Given the description of an element on the screen output the (x, y) to click on. 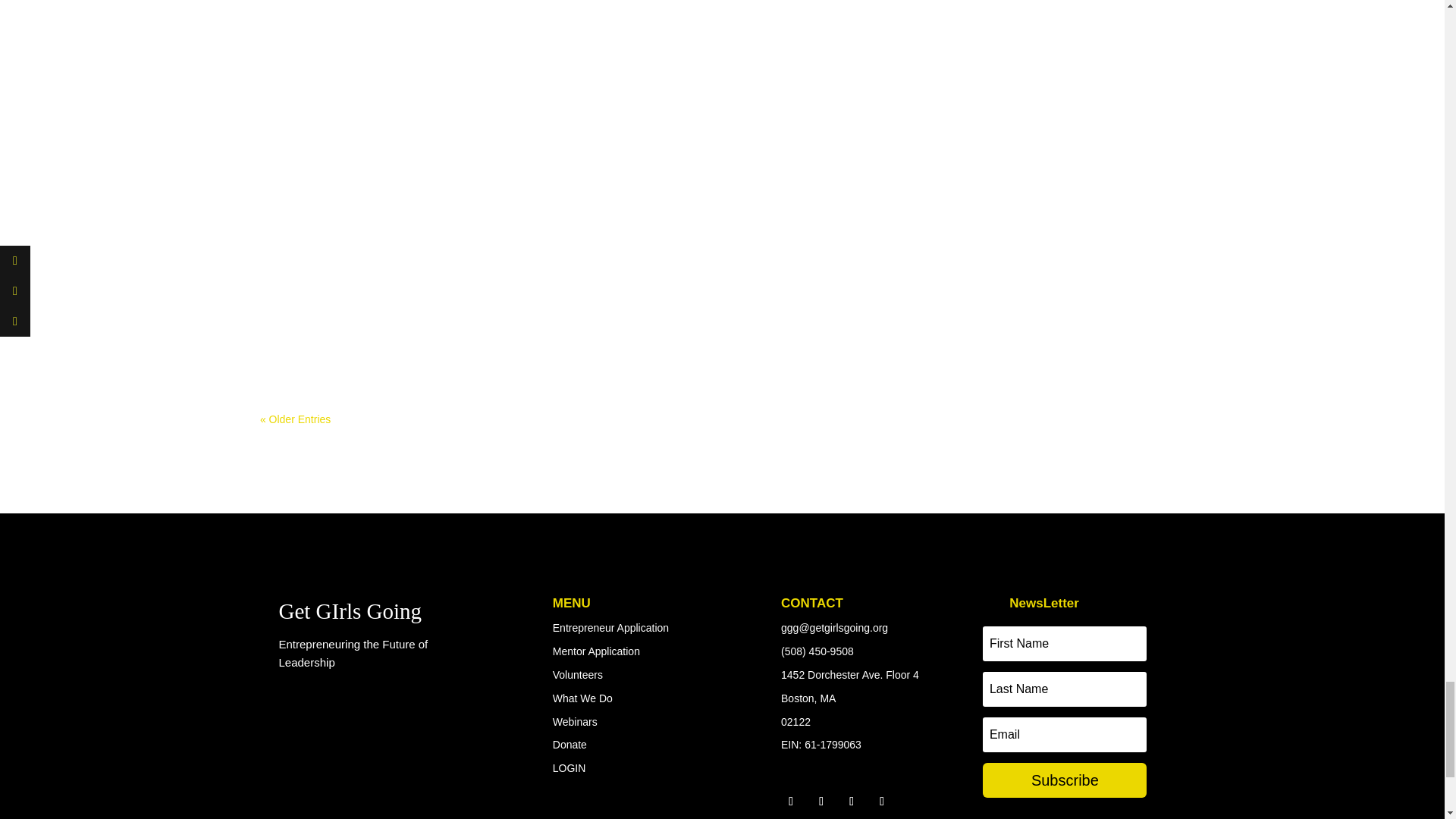
Follow on Facebook (790, 801)
Follow on Youtube (881, 801)
Follow on X (820, 801)
Follow on Instagram (851, 801)
